Given the description of an element on the screen output the (x, y) to click on. 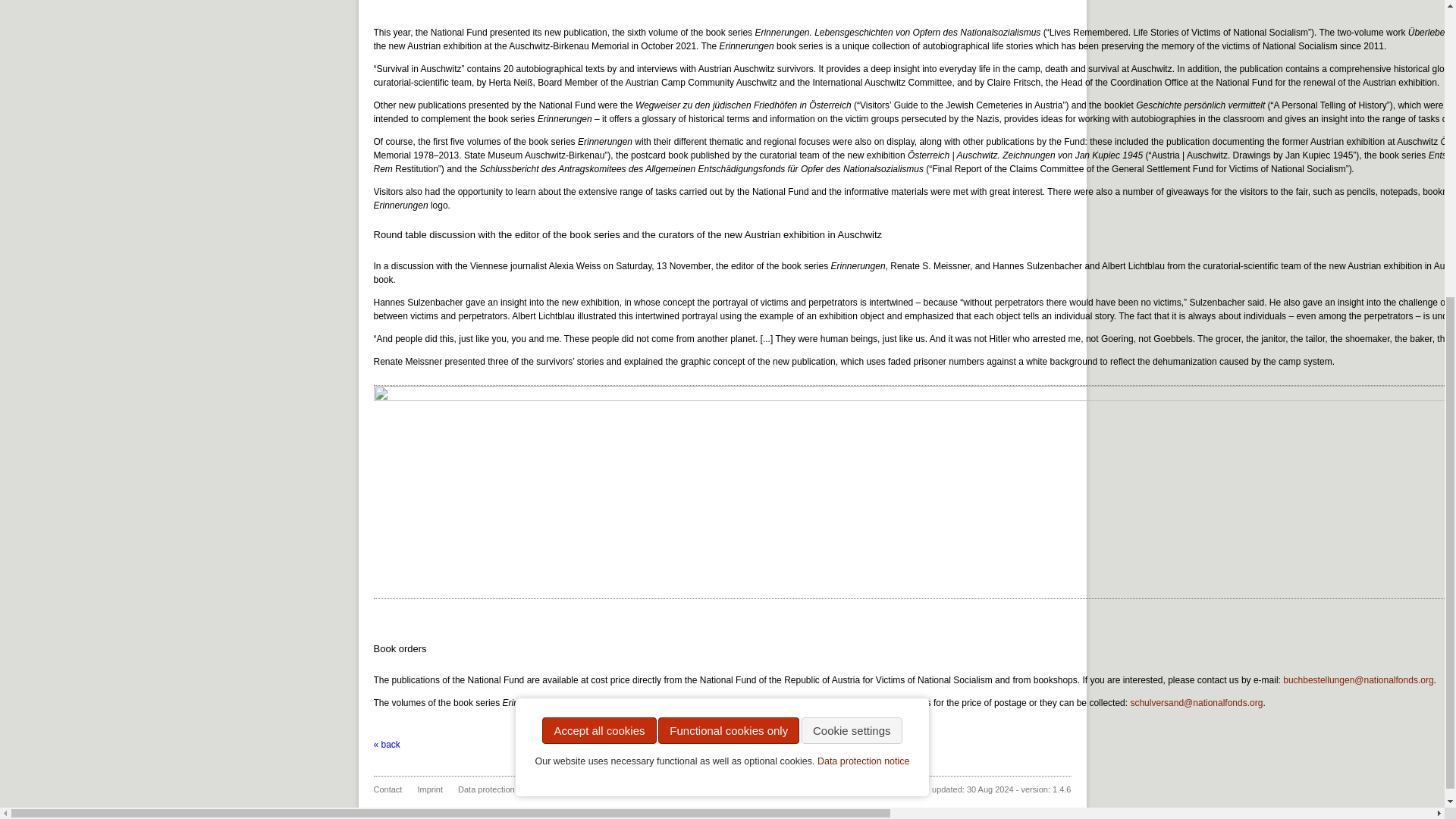
Cookie settings (852, 343)
Functional cookies only (728, 352)
Data protection notice (863, 338)
